Given the description of an element on the screen output the (x, y) to click on. 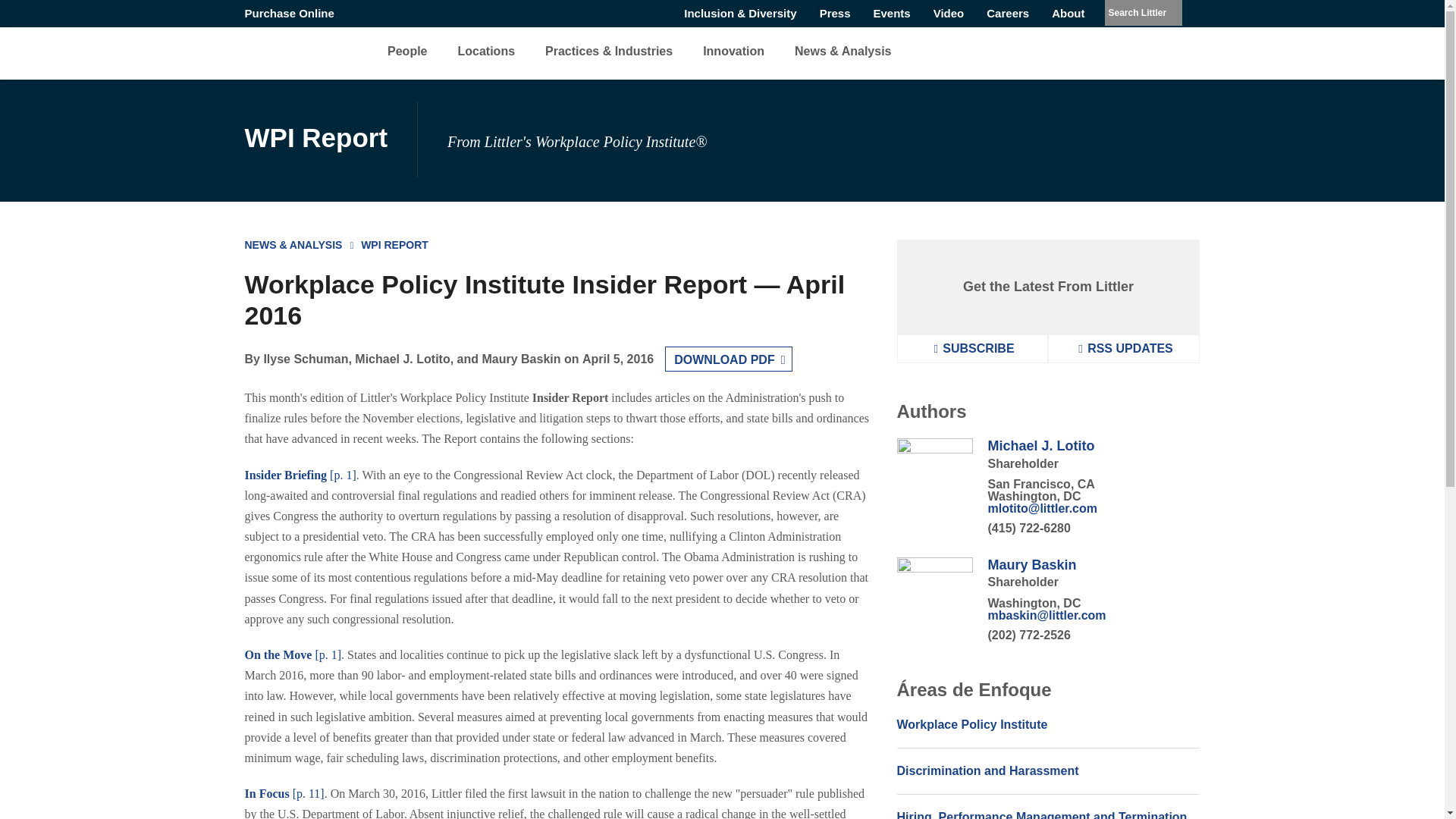
Littler Mendelson P.C. Home (283, 51)
Download (728, 358)
